Given the description of an element on the screen output the (x, y) to click on. 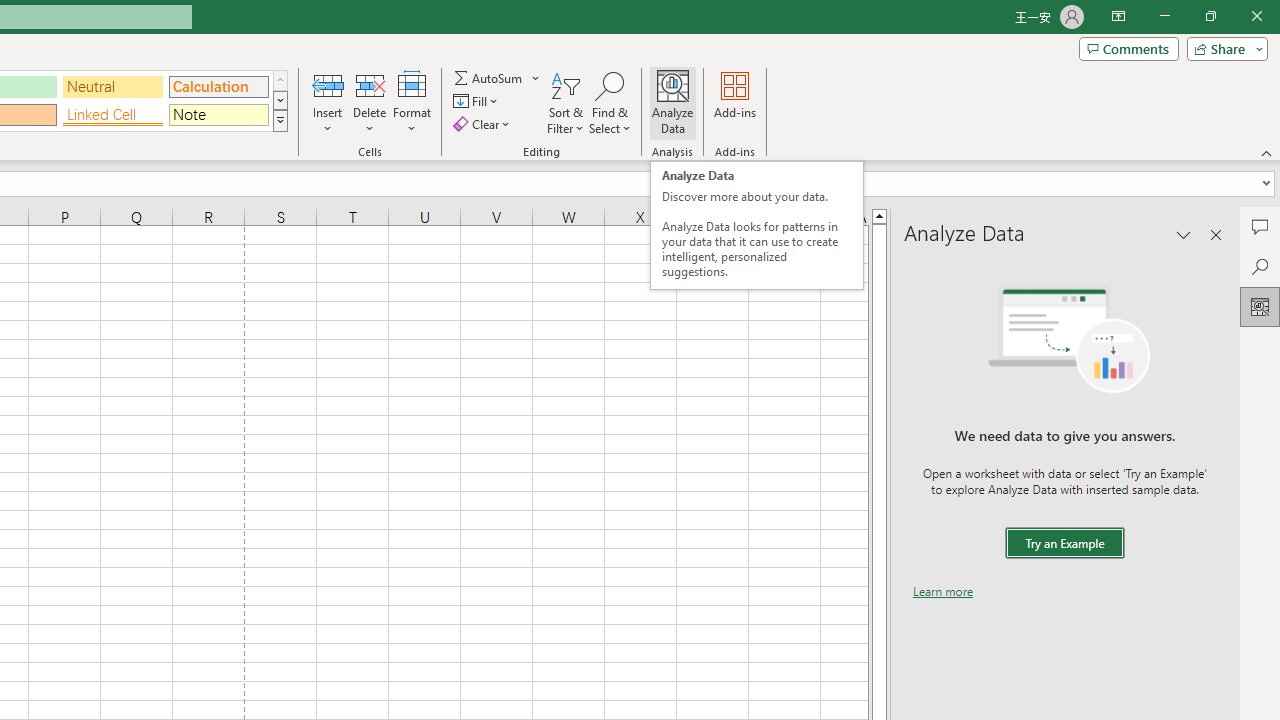
Delete Cells... (369, 84)
Share (1223, 48)
Fill (477, 101)
Cell Styles (280, 120)
Close (1256, 16)
Collapse the Ribbon (1267, 152)
Row Down (280, 100)
Search (1260, 266)
